Given the description of an element on the screen output the (x, y) to click on. 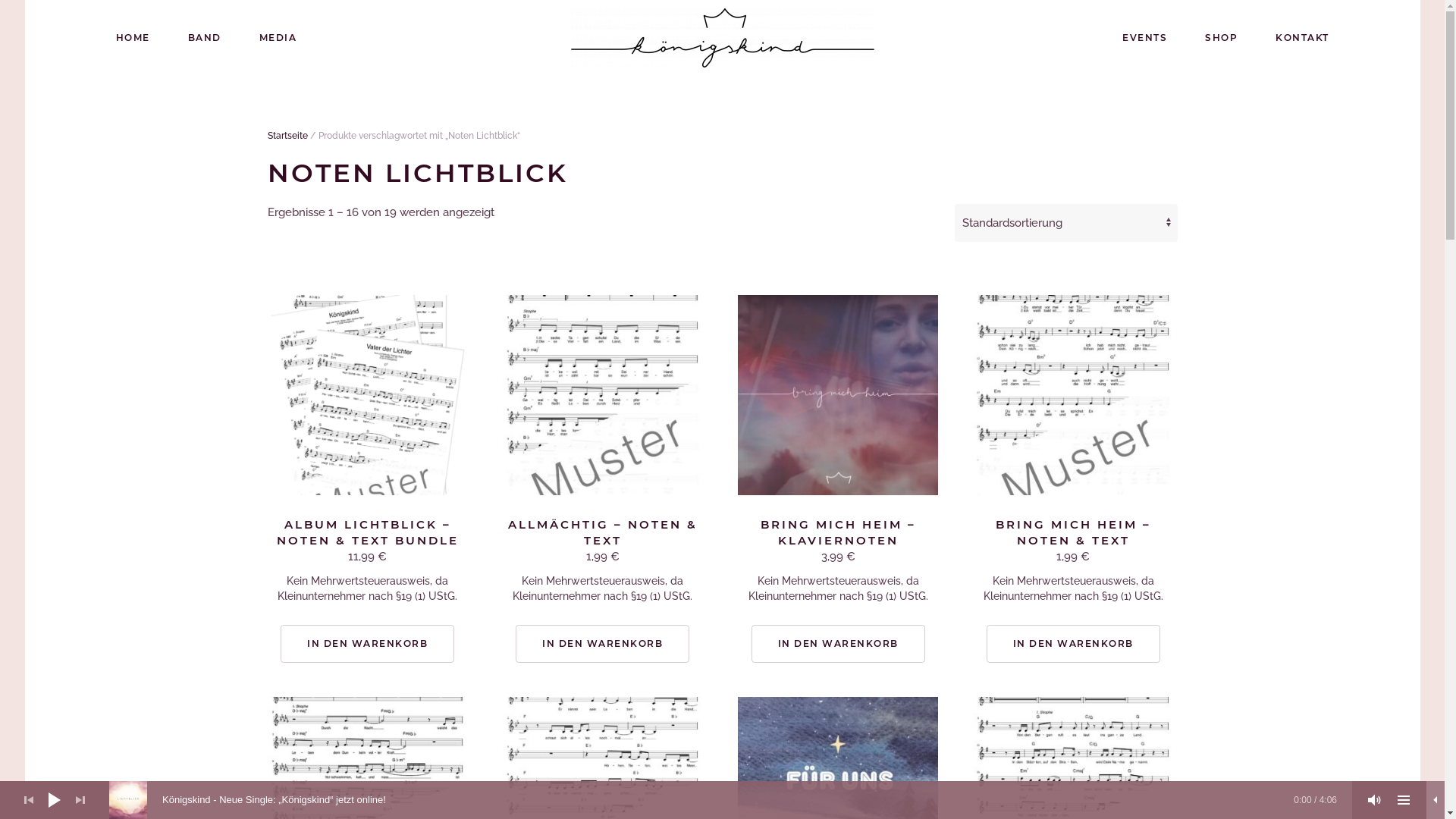
KONTAKT Element type: text (1302, 37)
Previous Track Element type: hover (28, 799)
BAND Element type: text (203, 37)
Next Track Element type: hover (80, 799)
HOME Element type: text (133, 37)
Abspielen Element type: hover (54, 799)
SHOP Element type: text (1221, 37)
Stumm Element type: hover (1374, 799)
IN DEN WARENKORB Element type: text (838, 643)
IN DEN WARENKORB Element type: text (602, 643)
Toggle Player Element type: hover (1435, 799)
MEDIA Element type: text (277, 37)
IN DEN WARENKORB Element type: text (1073, 643)
IN DEN WARENKORB Element type: text (367, 643)
Startseite Element type: text (286, 135)
EVENTS Element type: text (1144, 37)
Toggle Playlist Element type: hover (1403, 799)
